Given the description of an element on the screen output the (x, y) to click on. 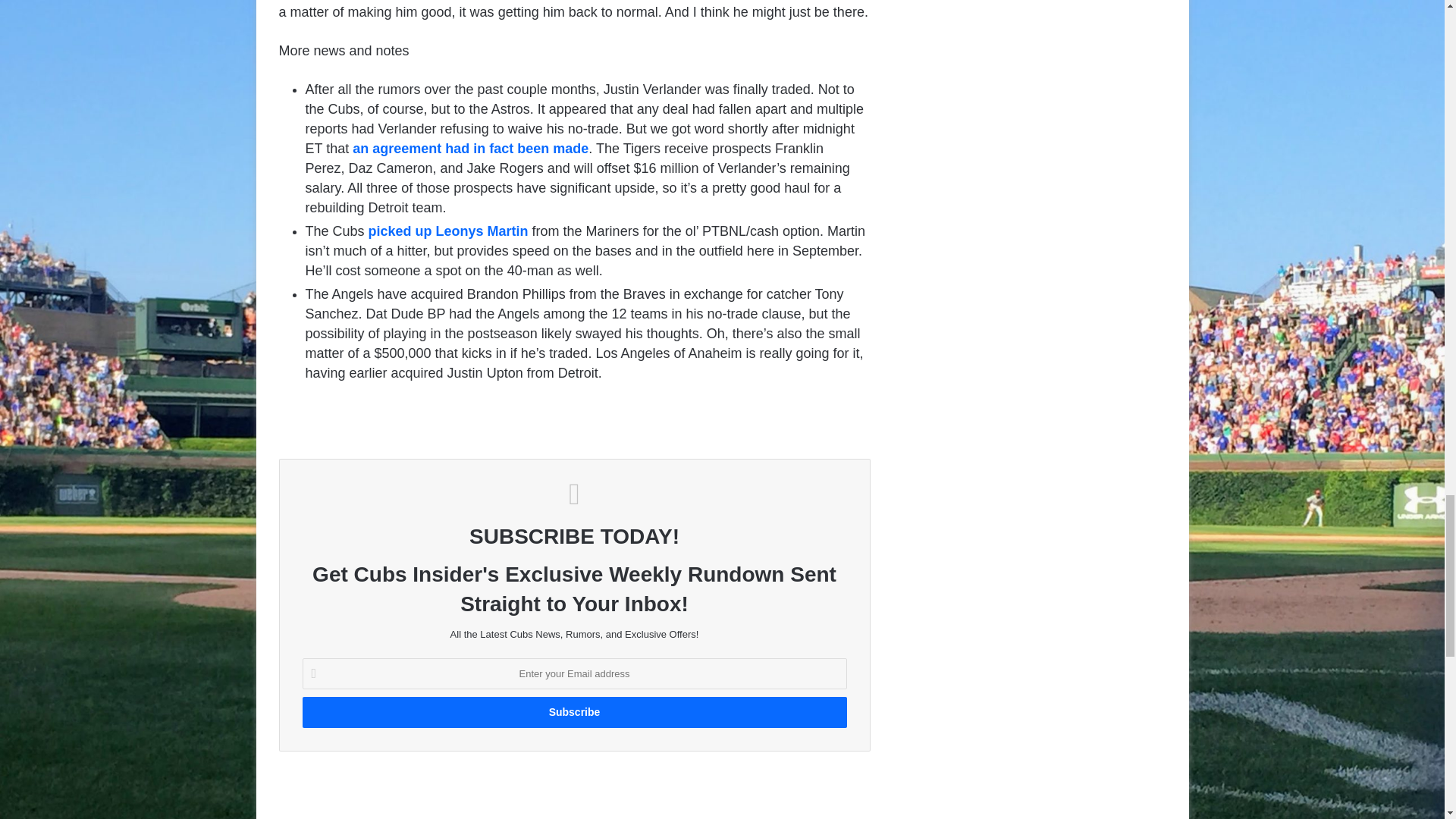
Subscribe (573, 712)
